Given the description of an element on the screen output the (x, y) to click on. 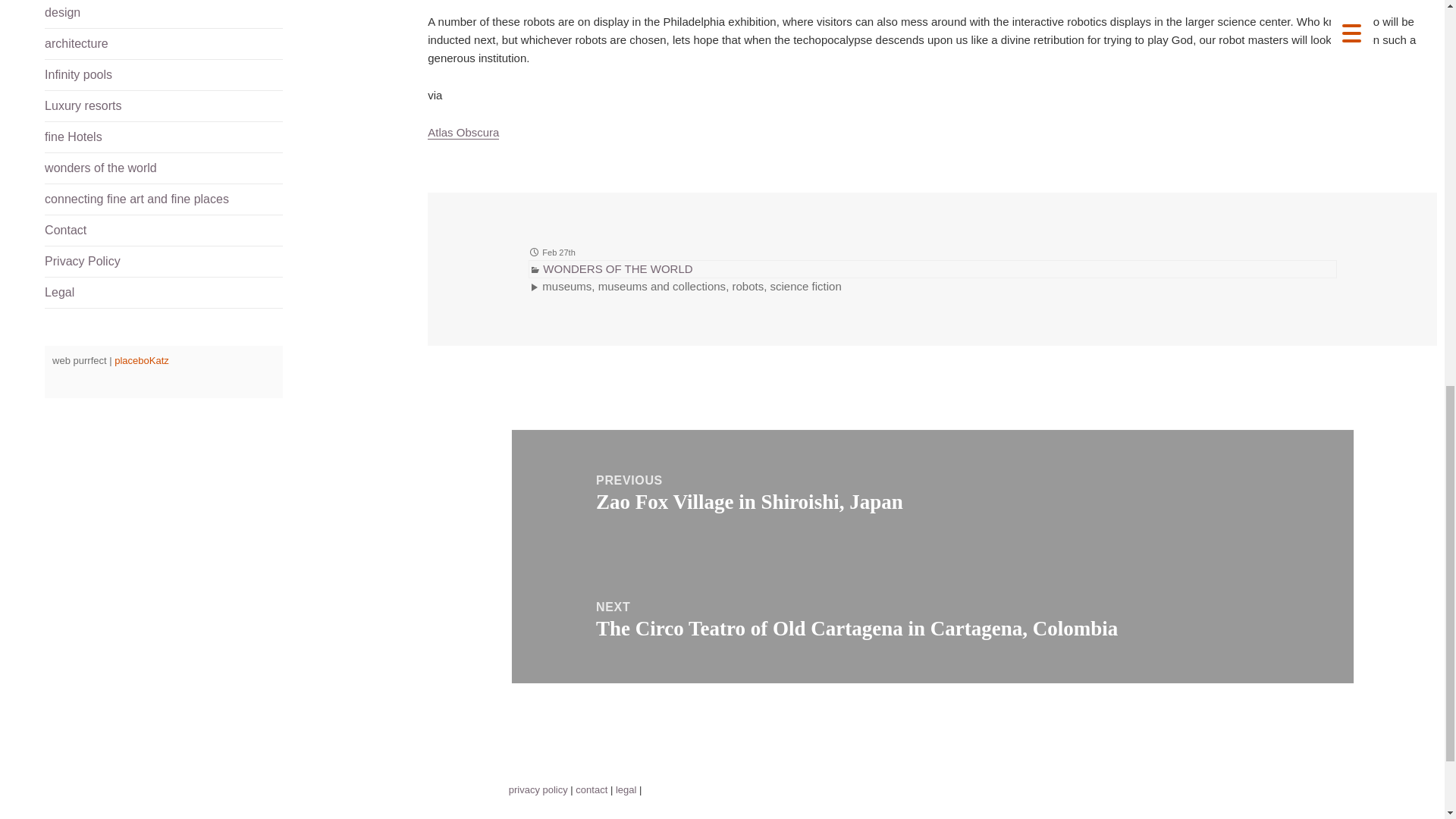
wonders of the world (163, 168)
design (163, 13)
Infinity pools (163, 74)
Feb 27th (558, 251)
Contact (163, 230)
Get in touch. (163, 230)
The endless beauty of infinity pools. (163, 74)
Privacy Policy (163, 261)
architecture (163, 43)
Atlas Obscura (463, 132)
connecting fine art and fine places (163, 199)
Luxury resorts (163, 105)
placeboKatz (141, 360)
fine Hotels (163, 137)
The wonders and curiosities of the Atlas Obscura. (463, 132)
